Given the description of an element on the screen output the (x, y) to click on. 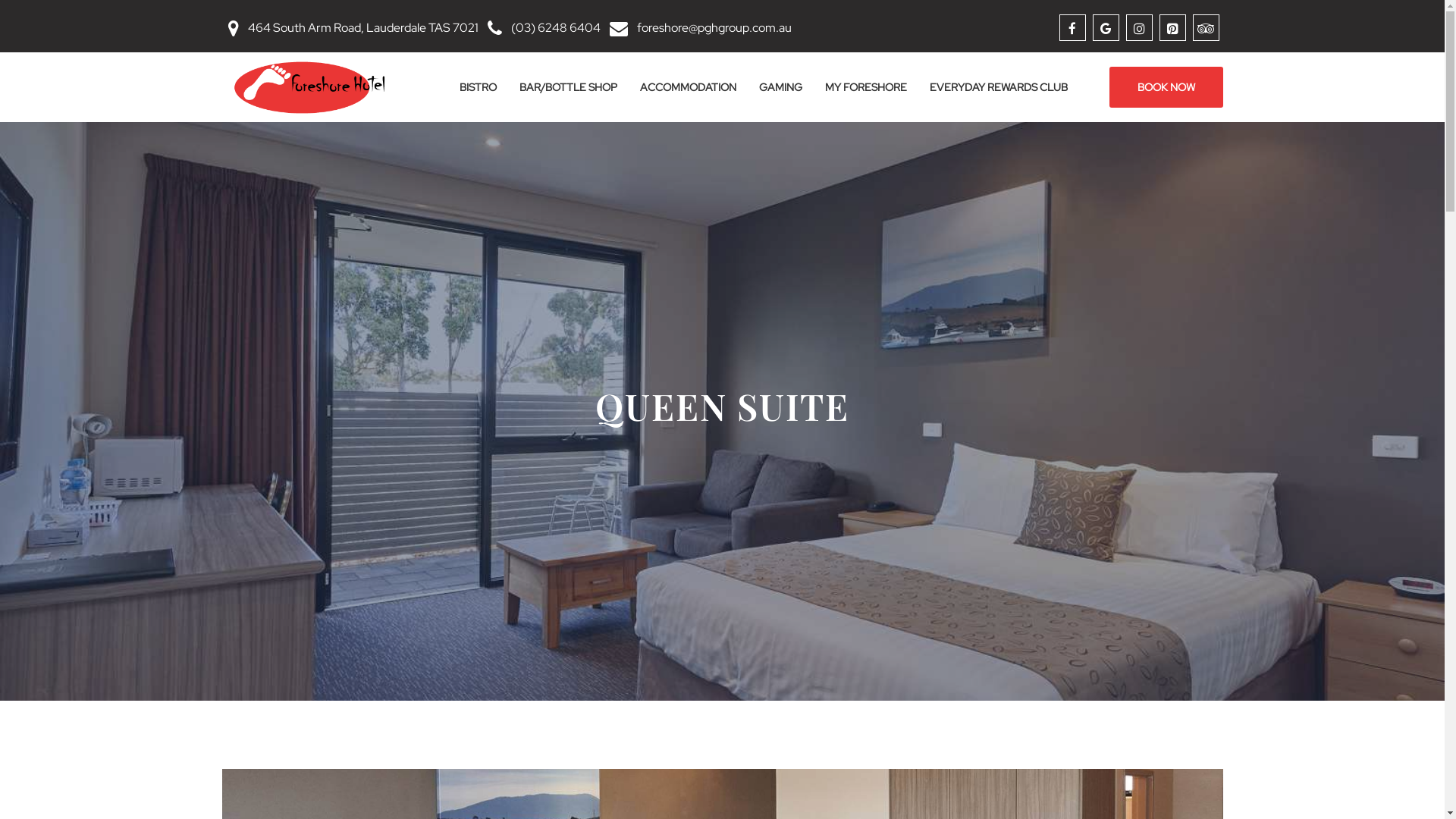
ACCOMMODATION Element type: text (686, 87)
(03) 6248 6404 Element type: text (555, 27)
BAR/BOTTLE SHOP
Toggle navigation Element type: text (568, 87)
GAMING Element type: text (780, 87)
MY FORESHORE
Toggle navigation Element type: text (864, 87)
BOOK NOW Element type: text (1165, 86)
foreshore@pghgroup.com.au Element type: text (714, 27)
BISTRO
Toggle navigation Element type: text (477, 87)
EVERYDAY REWARDS CLUB
Toggle navigation Element type: text (997, 87)
